Given the description of an element on the screen output the (x, y) to click on. 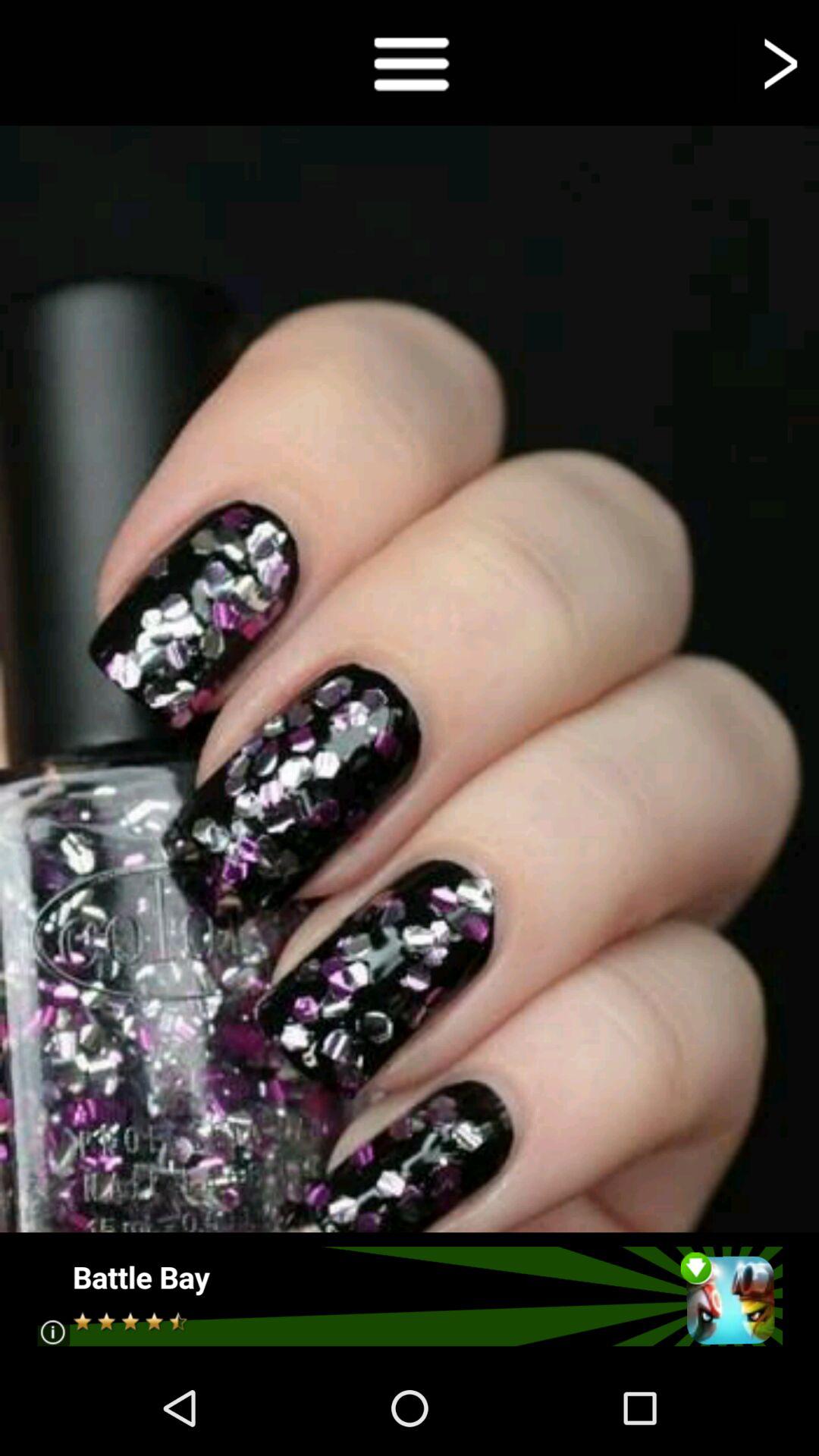
vestir tus uas (409, 62)
